Given the description of an element on the screen output the (x, y) to click on. 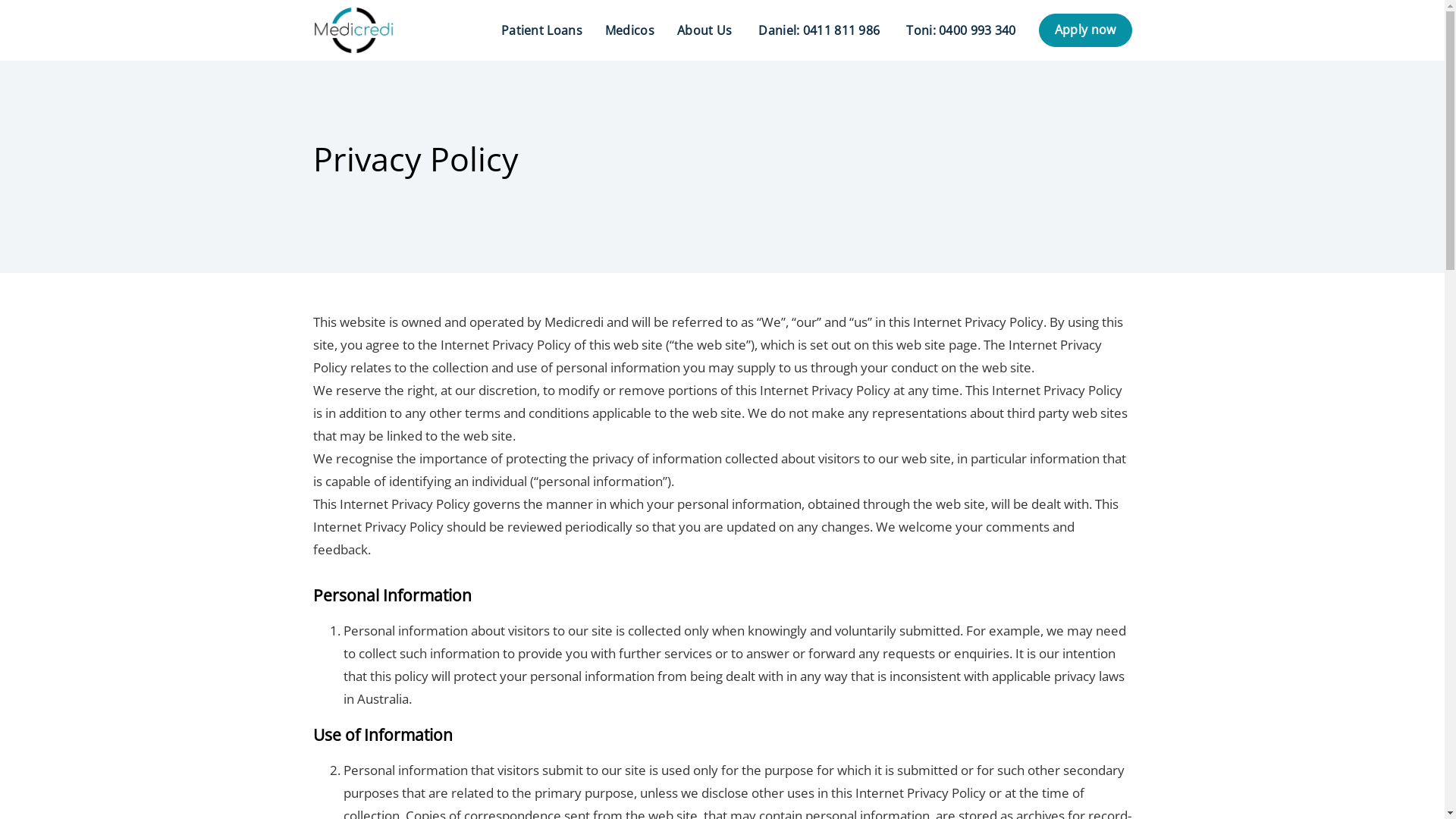
Medicos Element type: text (629, 30)
Toni: 0400 993 340 Element type: text (958, 30)
Apply now Element type: text (1085, 30)
Daniel: 0411 811 986 Element type: text (817, 30)
Privacy Element type: text (1058, 795)
Patient Loans Element type: text (541, 30)
contact@medicredi.com.au Element type: text (943, 706)
About Us Element type: text (704, 30)
